Given the description of an element on the screen output the (x, y) to click on. 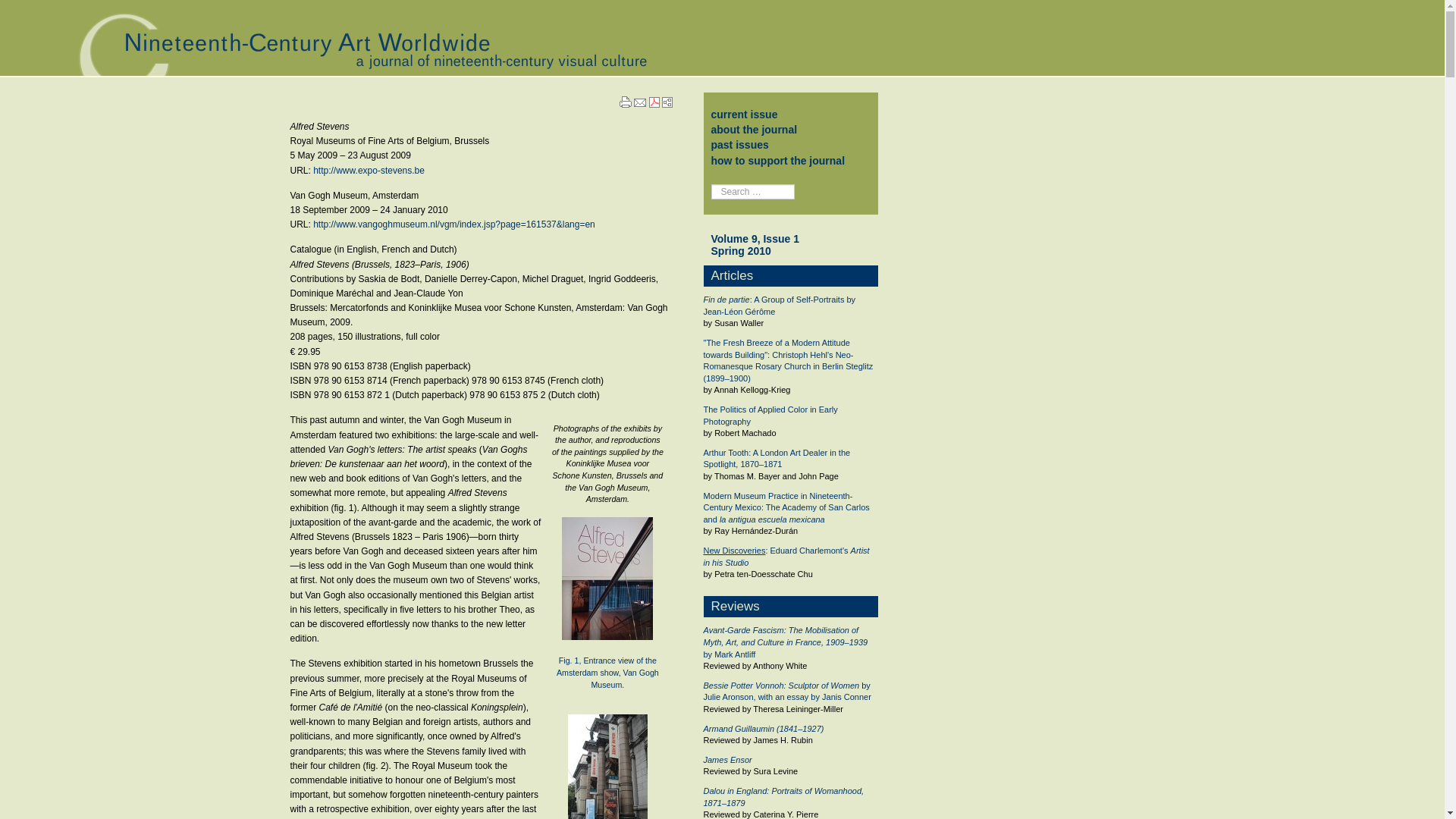
how to support the journal (778, 160)
PDF (653, 102)
Print (624, 100)
Print (624, 102)
Email (639, 102)
Share (666, 102)
past issues (739, 144)
The Politics of Applied Color in Early Photography (770, 414)
Email (639, 100)
current issue (744, 114)
about the journal (754, 129)
